Given the description of an element on the screen output the (x, y) to click on. 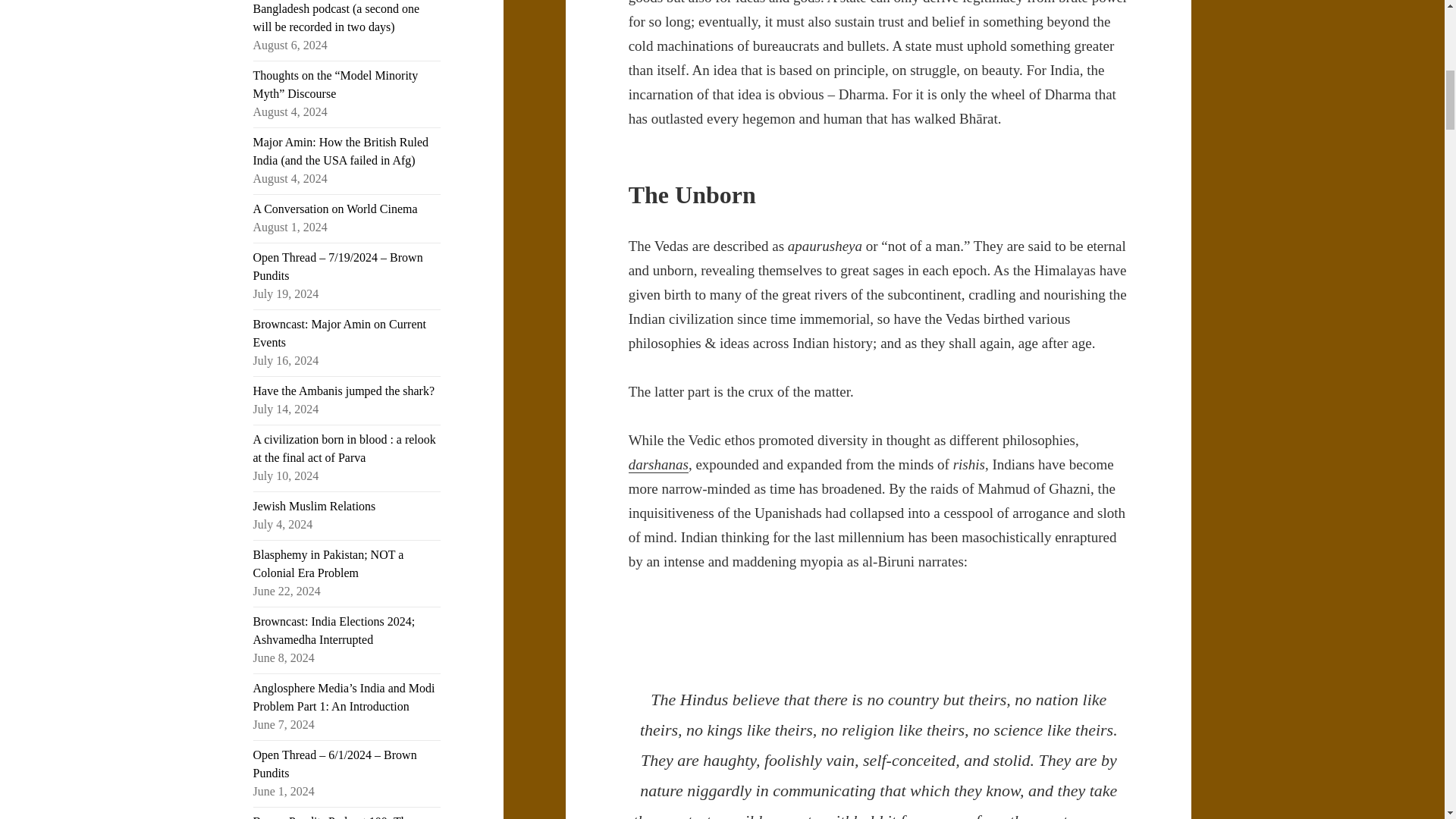
Blasphemy in Pakistan; NOT a Colonial Era Problem (328, 563)
A Conversation on World Cinema (335, 208)
Jewish Muslim Relations (314, 505)
Browncast: India Elections 2024; Ashvamedha Interrupted (333, 630)
Have the Ambanis jumped the shark? (344, 390)
Browncast: Major Amin on Current Events (339, 332)
